Given the description of an element on the screen output the (x, y) to click on. 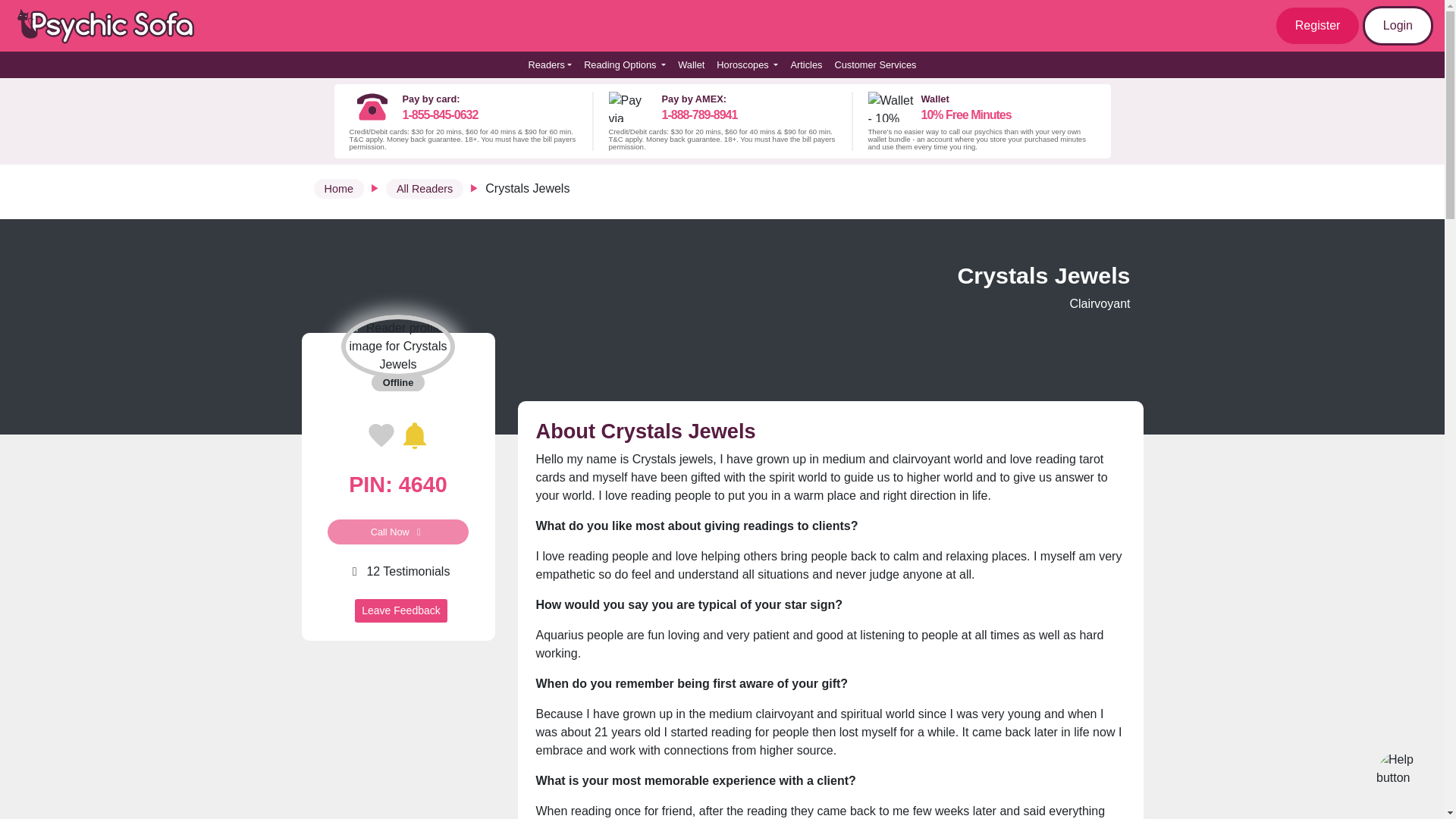
Receive a text when Crystals Jewels is available! (413, 435)
Reading Options (624, 64)
Readers (549, 64)
Horoscopes (747, 64)
Login (1397, 25)
Psychic Sofa Home Page Link (113, 25)
Wallet (690, 64)
Register (1317, 25)
